Given the description of an element on the screen output the (x, y) to click on. 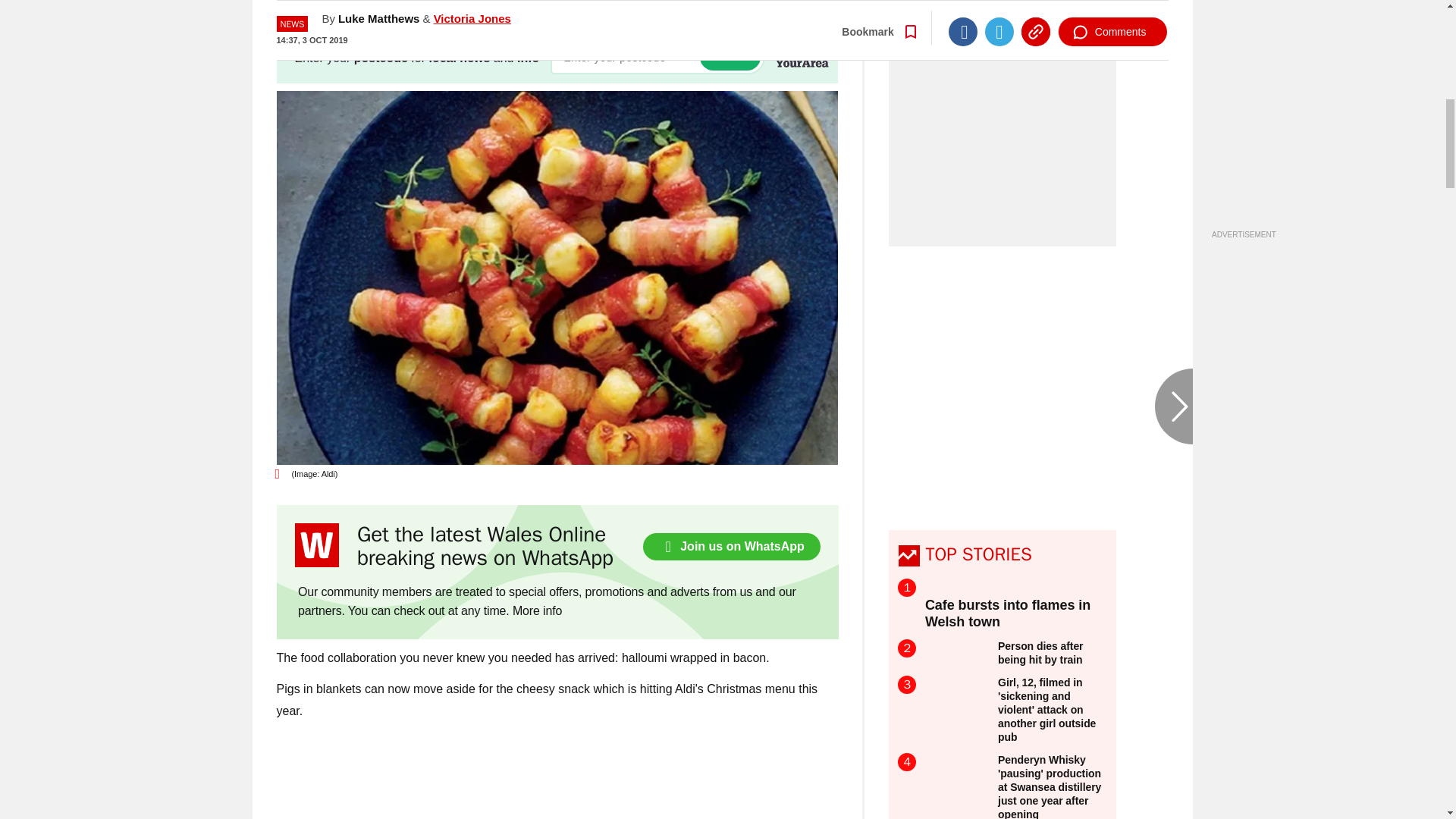
Go (730, 57)
